Given the description of an element on the screen output the (x, y) to click on. 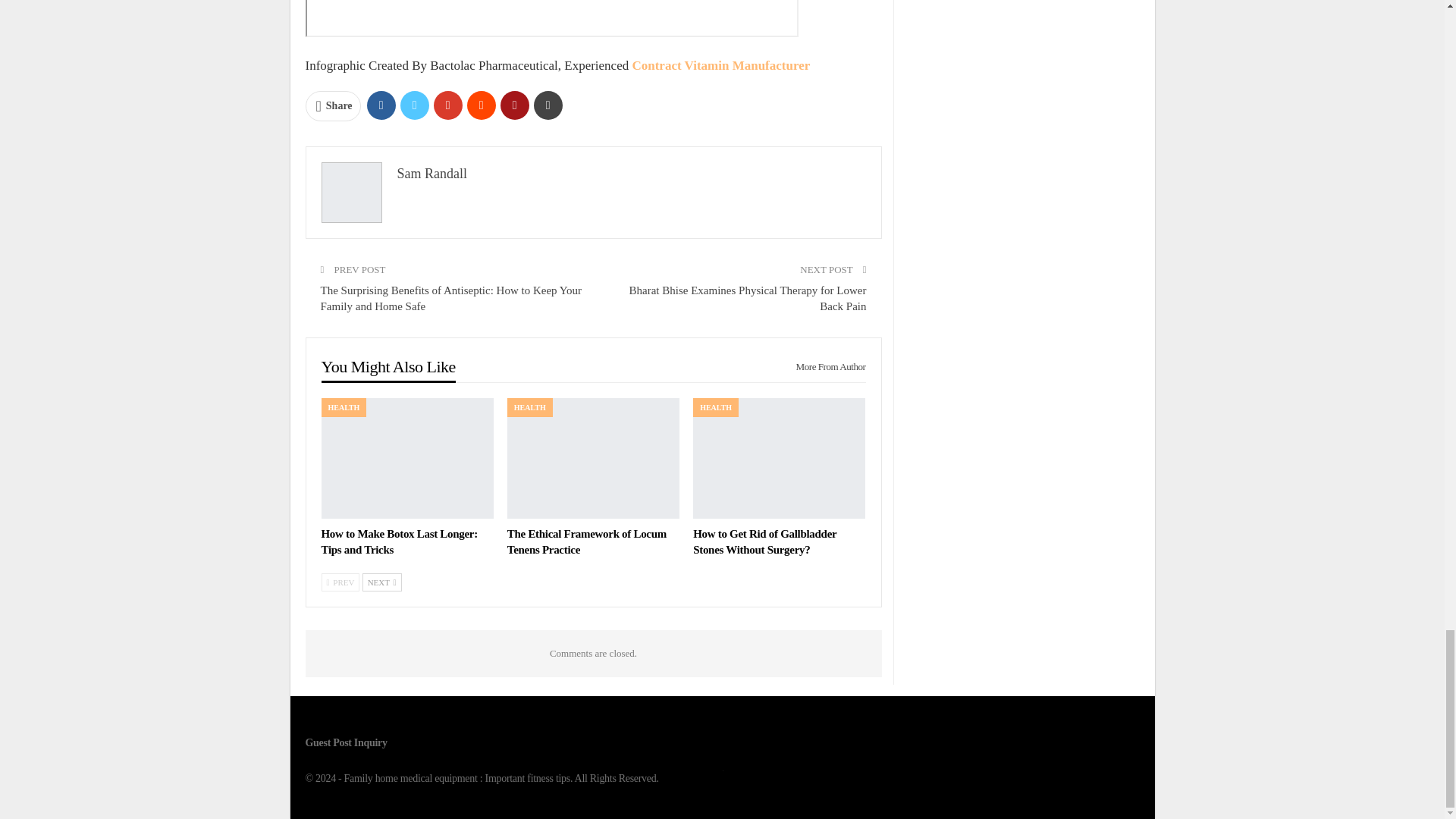
How to Get Rid of Gallbladder Stones Without Surgery? (764, 541)
The Ethical Framework of Locum Tenens Practice (586, 541)
How to Get Rid of Gallbladder Stones Without Surgery? (778, 458)
Next (381, 582)
How to Make Botox Last Longer: Tips and Tricks (399, 541)
Contract Vitamin Manufacturer (720, 65)
The Ethical Framework of Locum Tenens Practice (592, 458)
Previous (340, 582)
How to Make Botox Last Longer: Tips and Tricks (407, 458)
